Given the description of an element on the screen output the (x, y) to click on. 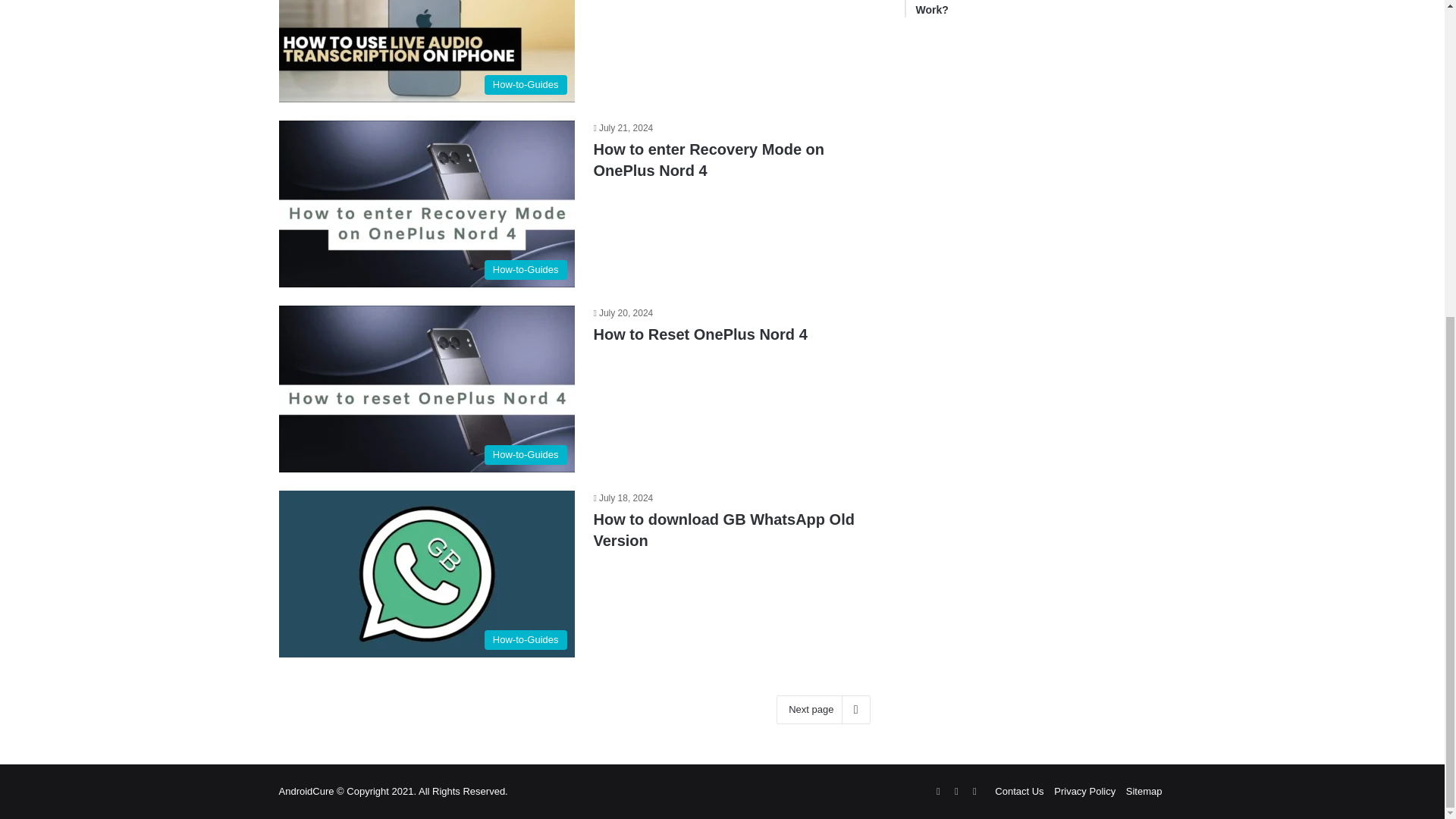
How-to-Guides (427, 203)
How to enter Recovery Mode on OnePlus Nord 4 (708, 159)
Facebook (956, 791)
Privacy Policy (1084, 790)
Next page (822, 709)
How-to-Guides (1040, 8)
X (427, 51)
RSS (974, 791)
How to Reset OnePlus Nord 4 (937, 791)
How-to-Guides (699, 334)
How to download GB WhatsApp Old Version (427, 388)
Contact Us (722, 529)
How-to-Guides (1018, 790)
Sitemap (427, 573)
